Given the description of an element on the screen output the (x, y) to click on. 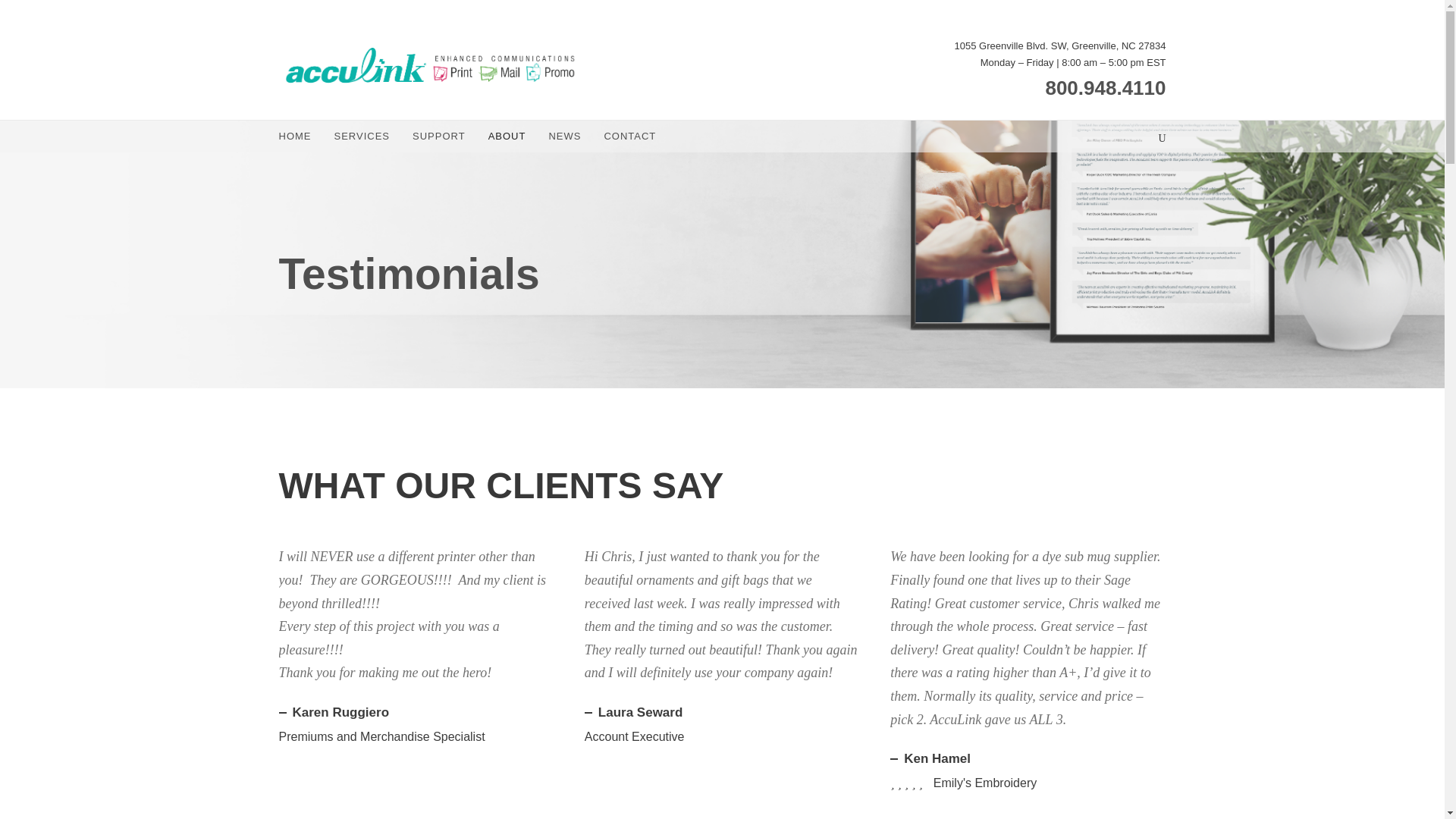
HOME (295, 139)
ABOUT (506, 139)
AccuLink Horizontal Logo (430, 64)
SERVICES (361, 139)
SUPPORT (438, 139)
